Given the description of an element on the screen output the (x, y) to click on. 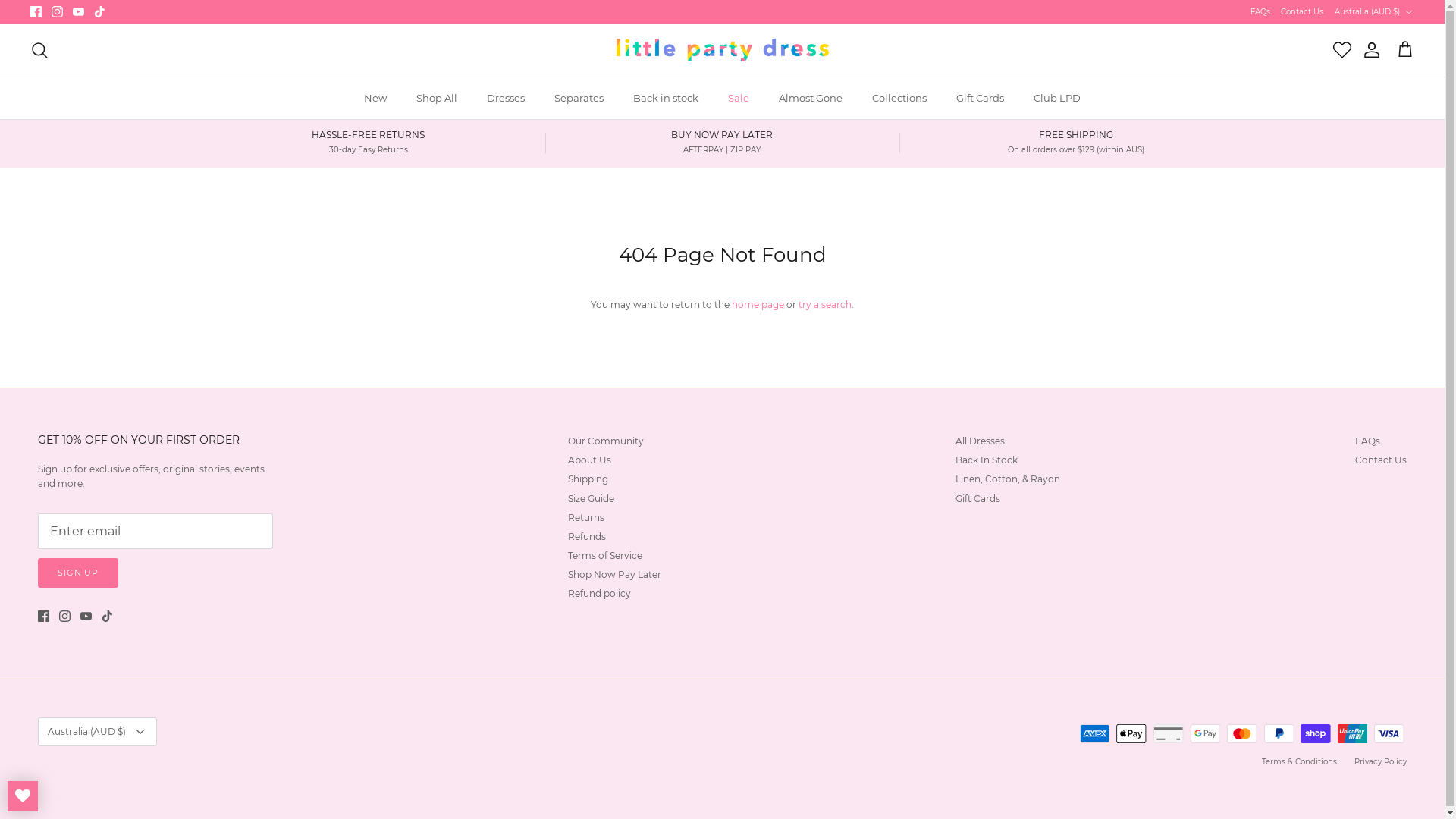
Terms of Service Element type: text (604, 555)
Facebook Element type: text (35, 11)
Sale Element type: text (738, 98)
Cart Element type: text (1405, 49)
MY WISHLIST Element type: text (22, 796)
New Element type: text (375, 98)
SIGN UP Element type: text (77, 572)
Instagram Element type: text (64, 615)
Linen, Cotton, & Rayon Element type: text (1007, 478)
About Us Element type: text (589, 459)
All Dresses Element type: text (979, 440)
home page Element type: text (757, 304)
Shop Now Pay Later Element type: text (614, 574)
Our Community Element type: text (605, 440)
Size Guide Element type: text (590, 498)
Dresses Element type: text (505, 98)
Shipping Element type: text (587, 478)
Australia (AUD $)
Down Element type: text (1374, 11)
Almost Gone Element type: text (810, 98)
Collections Element type: text (899, 98)
FAQs Element type: text (1260, 11)
Youtube Element type: text (85, 615)
Refund policy Element type: text (598, 593)
Account Element type: text (1368, 49)
FAQs Element type: text (1367, 440)
Contact Us Element type: text (1301, 11)
Shop All Element type: text (436, 98)
Separates Element type: text (578, 98)
Search Element type: text (39, 49)
Youtube Element type: text (78, 11)
Instagram Element type: text (56, 11)
Gift Cards Element type: text (979, 98)
Australia (AUD $)
Down Element type: text (96, 731)
Terms & Conditions Element type: text (1298, 761)
Back In Stock Element type: text (986, 459)
Returns Element type: text (585, 517)
Privacy Policy Element type: text (1380, 761)
Back in stock Element type: text (665, 98)
Gift Cards Element type: text (977, 498)
Contact Us Element type: text (1380, 459)
Little Party Dress Element type: hover (721, 49)
try a search Element type: text (824, 304)
Club LPD Element type: text (1056, 98)
Refunds Element type: text (586, 536)
Facebook Element type: text (43, 615)
